Given the description of an element on the screen output the (x, y) to click on. 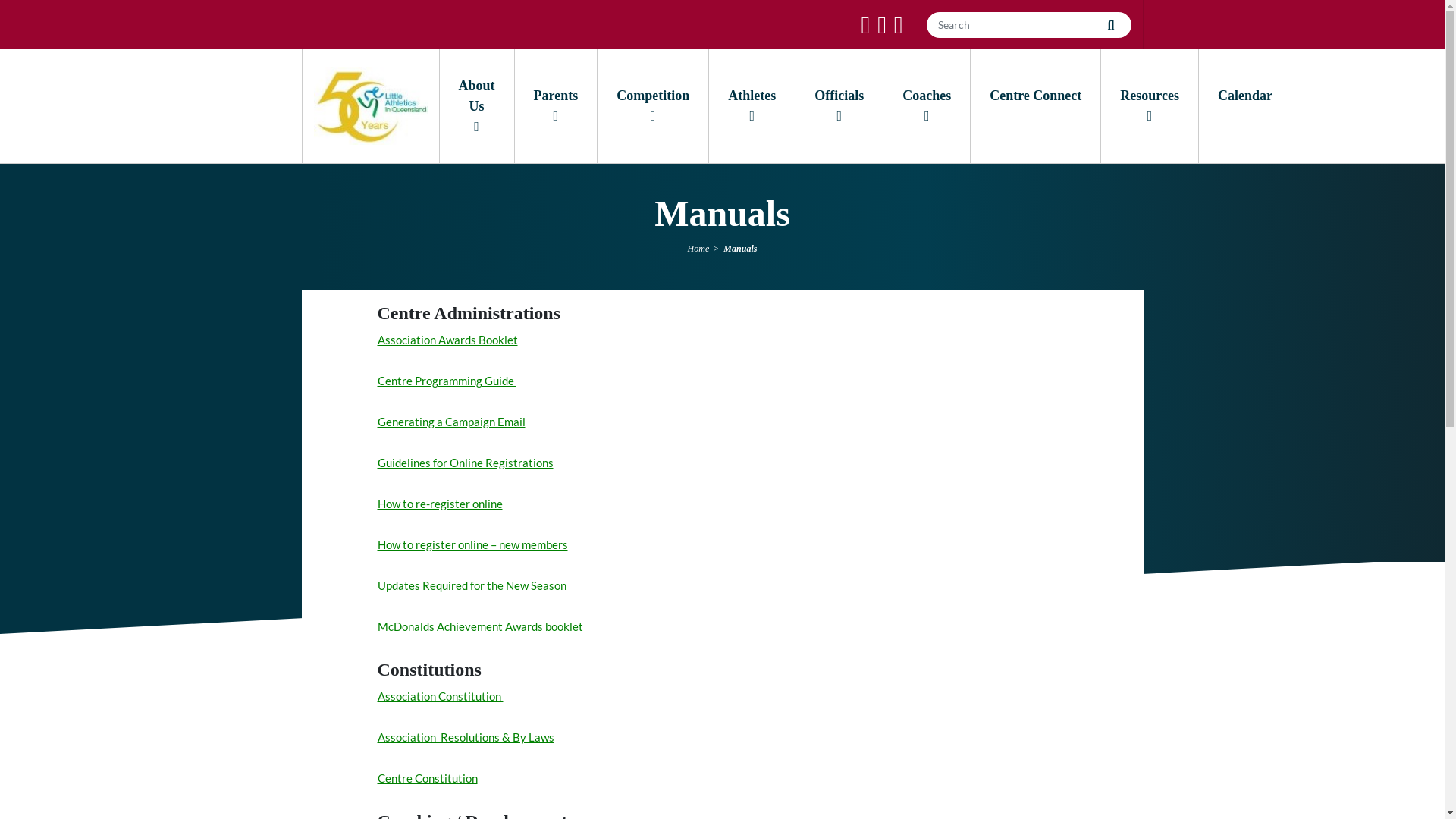
Centre Connect Element type: text (1035, 105)
Centre Constitution Element type: text (427, 777)
Updates Required for the New Season Element type: text (471, 585)
How to re-register online Element type: text (439, 503)
Competition Element type: text (652, 105)
Association Awards Booklet Element type: text (447, 339)
Association Constitution  Element type: text (440, 695)
Generating a Campaign Email Element type: text (451, 421)
Officials Element type: text (838, 105)
Coaches Element type: text (926, 105)
Parents Element type: text (555, 105)
Centre Programming Guide  Element type: text (446, 380)
Guidelines for Online Registrations Element type: text (465, 462)
Athletes Element type: text (751, 105)
Home Element type: text (698, 248)
McDonalds Achievement Awards booklet Element type: text (480, 626)
Calendar Element type: text (1244, 105)
About Us Element type: text (476, 106)
Association  Resolutions & By Laws Element type: text (465, 736)
Resources Element type: text (1149, 105)
